Given the description of an element on the screen output the (x, y) to click on. 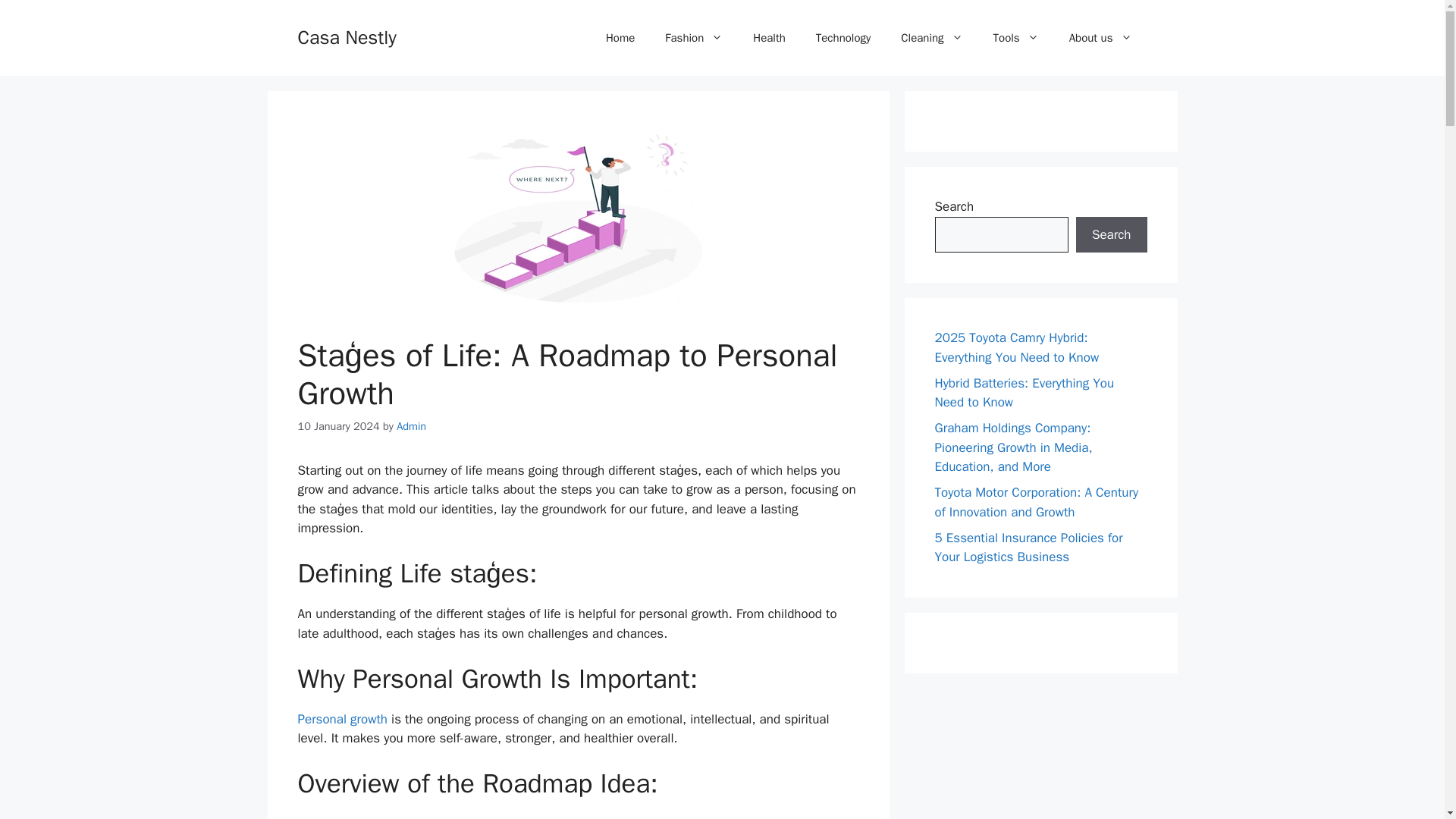
Toyota Motor Corporation: A Century of Innovation and Growth (1036, 502)
Fashion (693, 37)
Home (620, 37)
Technology (843, 37)
5 Essential Insurance Policies for Your Logistics Business (1028, 547)
Search (1111, 235)
2025 Toyota Camry Hybrid: Everything You Need to Know (1016, 347)
Admin (411, 426)
Casa Nestly (346, 37)
Personal growth (342, 719)
Cleaning (930, 37)
View all posts by Admin (411, 426)
Hybrid Batteries: Everything You Need to Know (1023, 392)
About us (1100, 37)
